Given the description of an element on the screen output the (x, y) to click on. 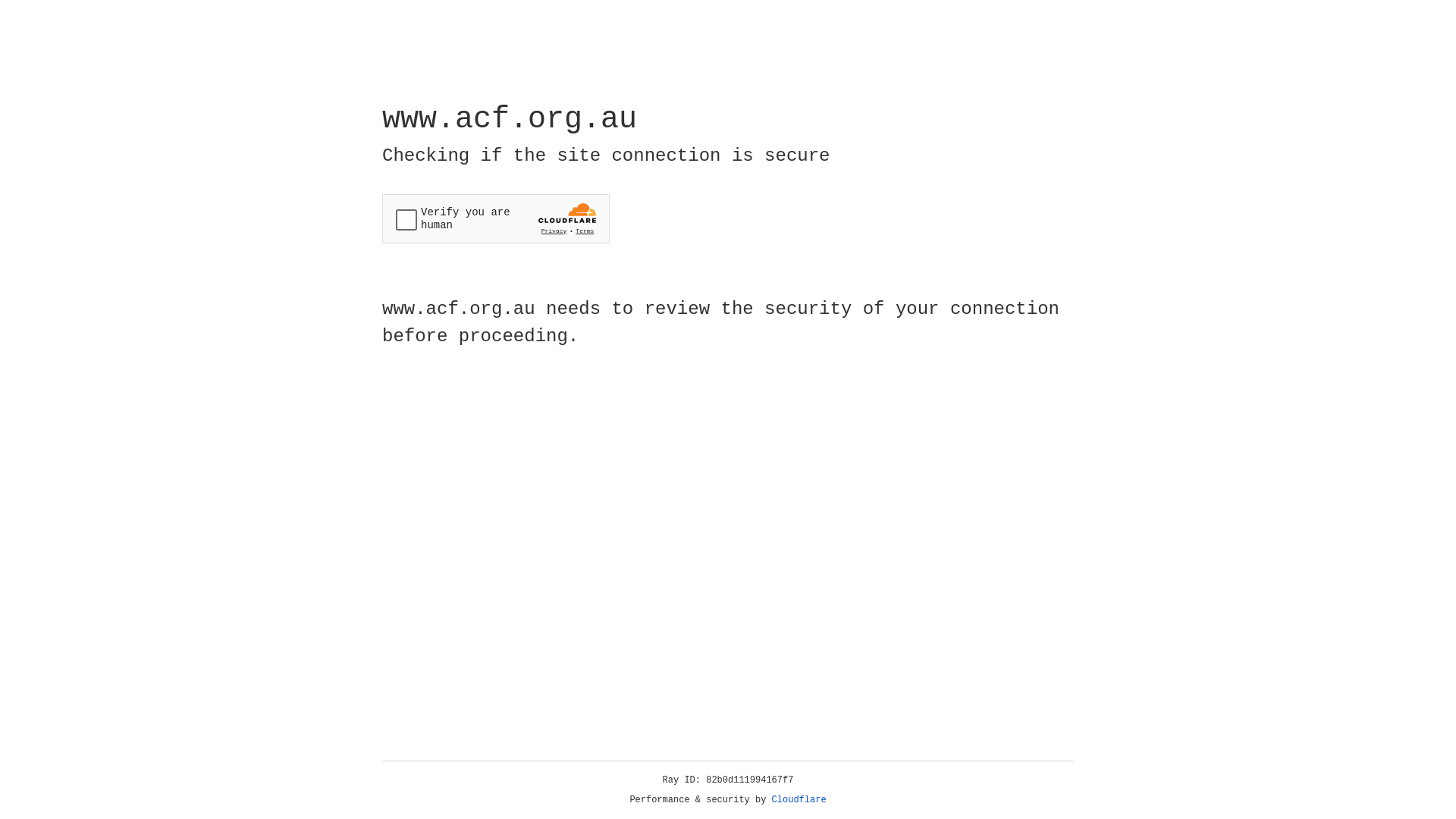
Cloudflare Element type: text (798, 799)
Widget containing a Cloudflare security challenge Element type: hover (495, 218)
